Given the description of an element on the screen output the (x, y) to click on. 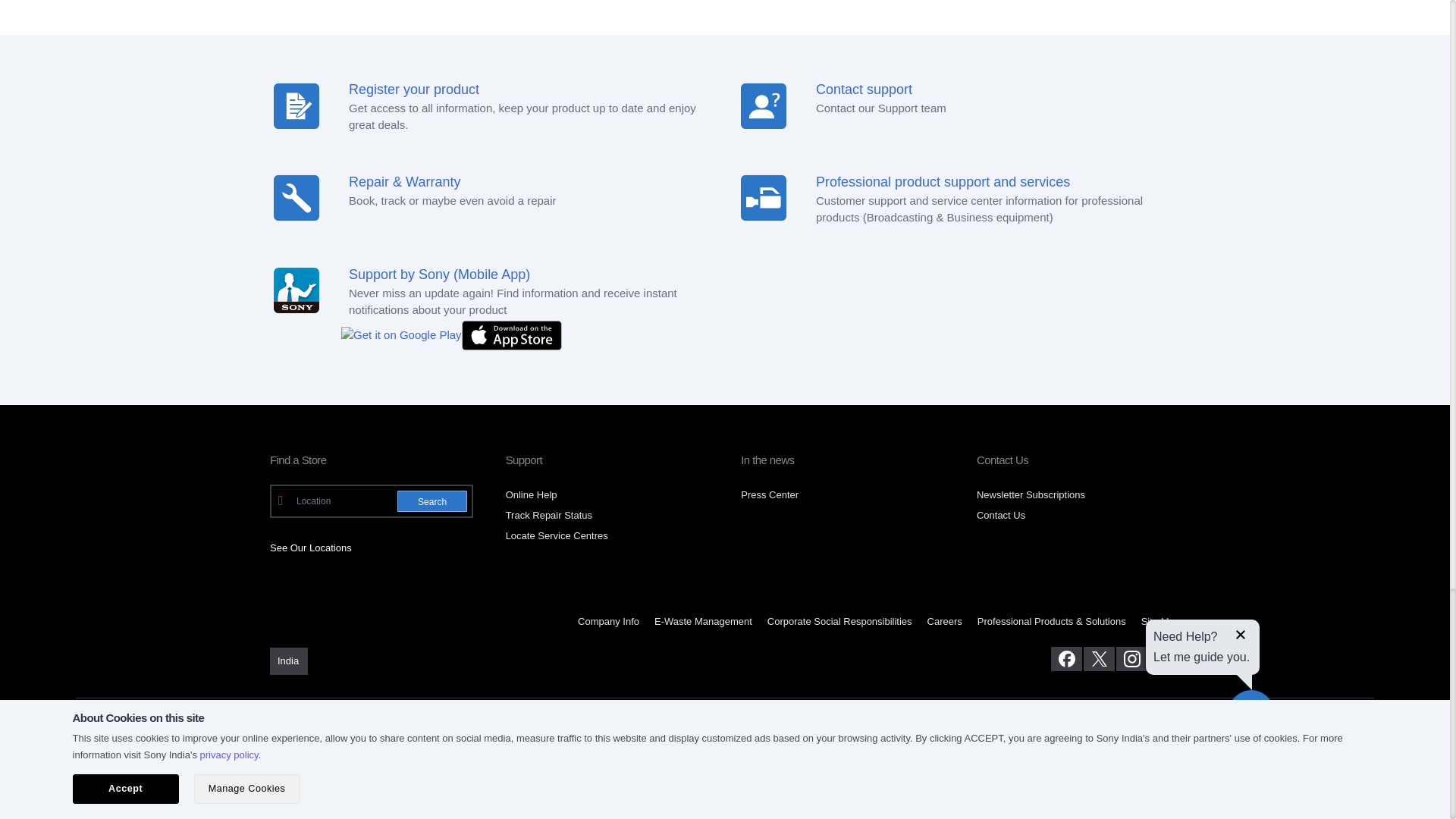
nntnnnttnn (763, 197)
